Given the description of an element on the screen output the (x, y) to click on. 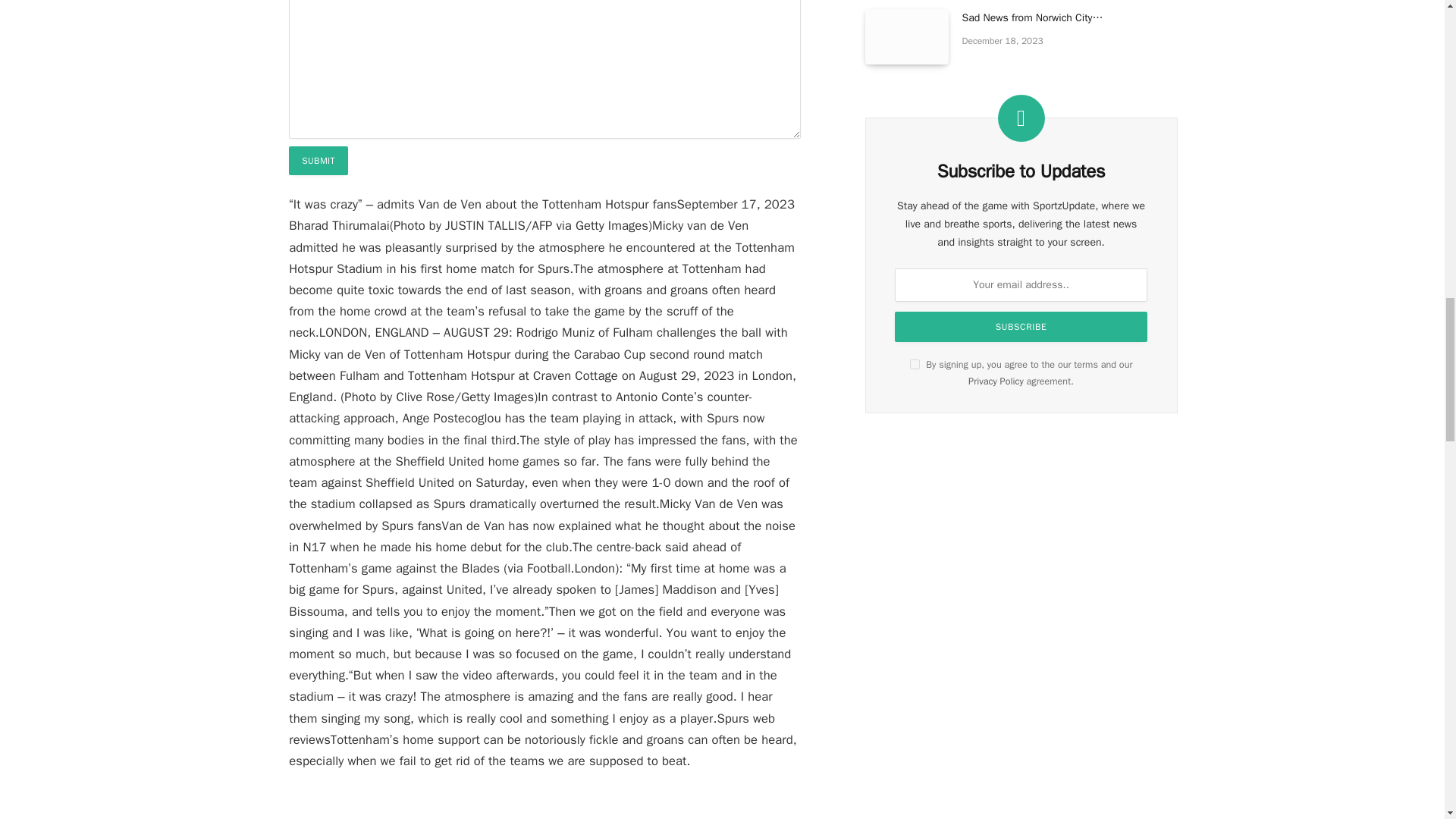
Subscribe (1021, 327)
on (915, 364)
